Given the description of an element on the screen output the (x, y) to click on. 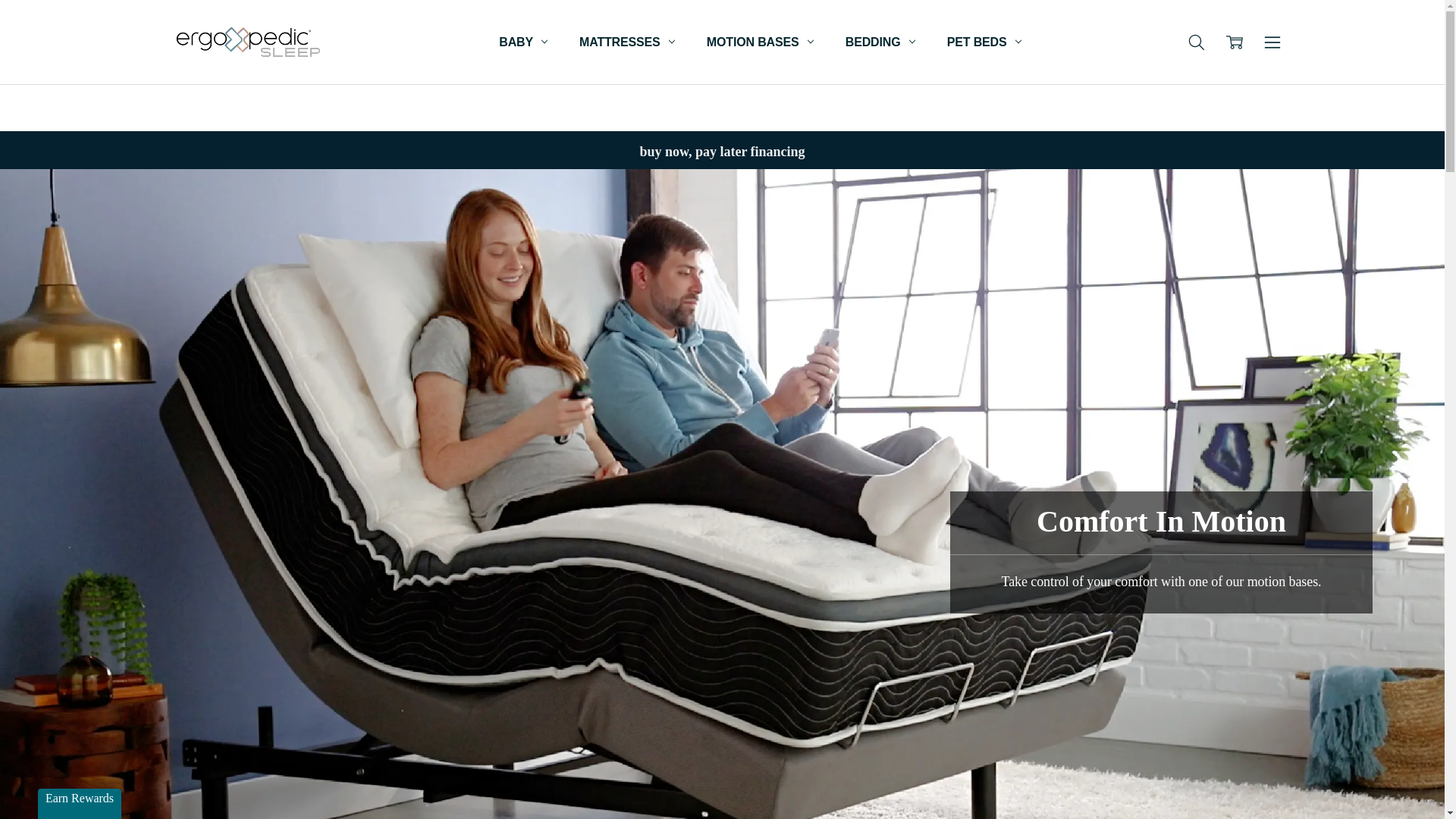
BABY (523, 42)
MOTION BASES (759, 42)
MATTRESSES (626, 42)
ERGO-PEDIC (247, 42)
